Given the description of an element on the screen output the (x, y) to click on. 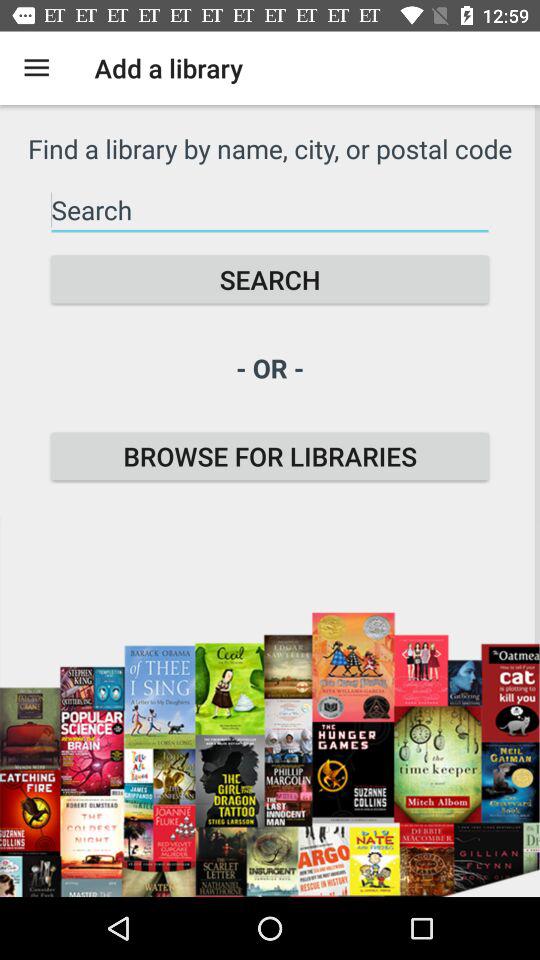
select the item below the find a library (269, 210)
